Given the description of an element on the screen output the (x, y) to click on. 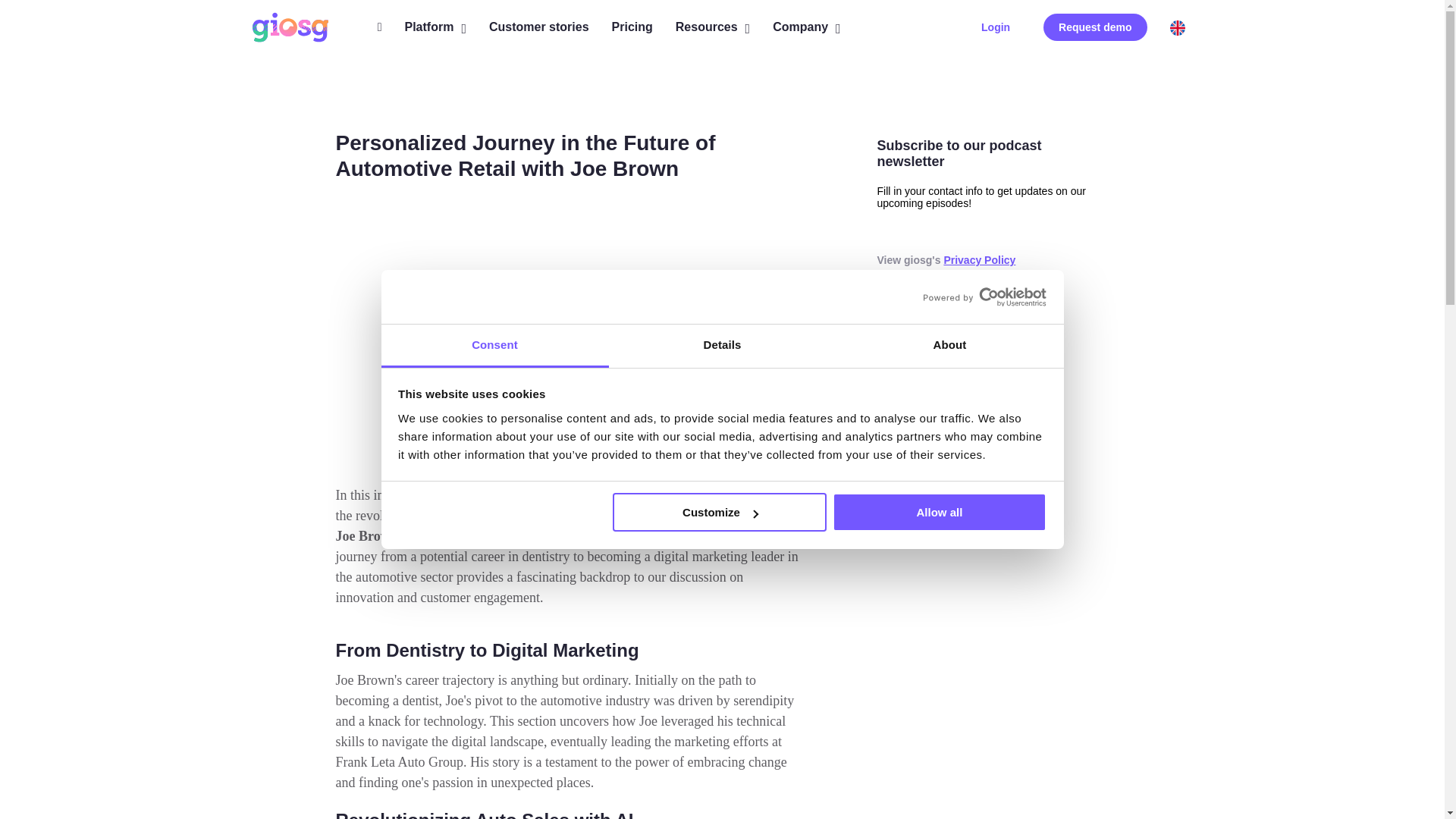
Consent (494, 345)
Details (721, 345)
About (948, 345)
